Given the description of an element on the screen output the (x, y) to click on. 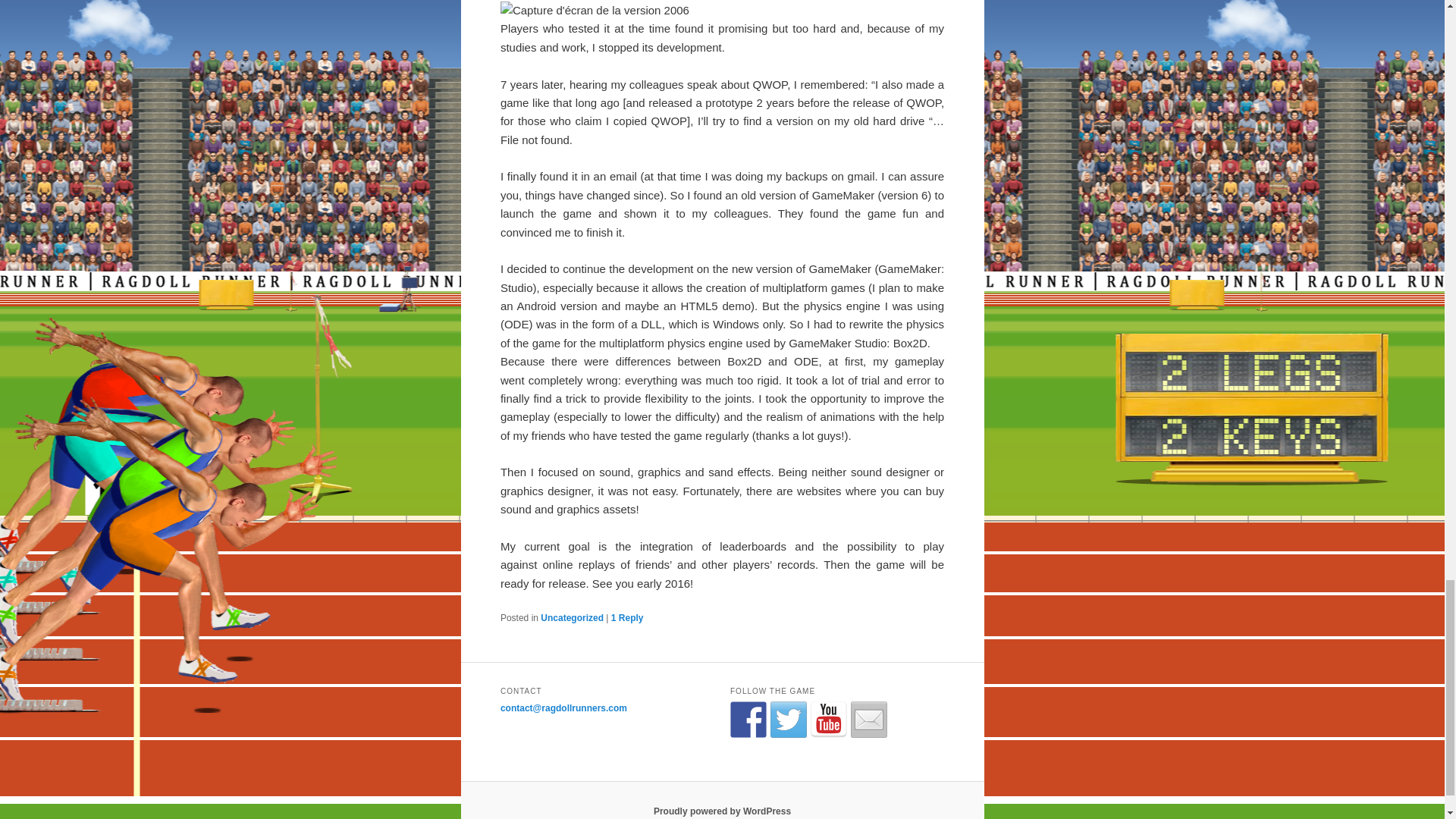
Semantic Personal Publishing Platform (721, 810)
Find Me on Youtube (828, 719)
Follow the game on Facebook (748, 719)
Uncategorized (572, 617)
1 Reply (627, 617)
Contact Me (868, 719)
Follow the game on Twitter (788, 719)
